Given the description of an element on the screen output the (x, y) to click on. 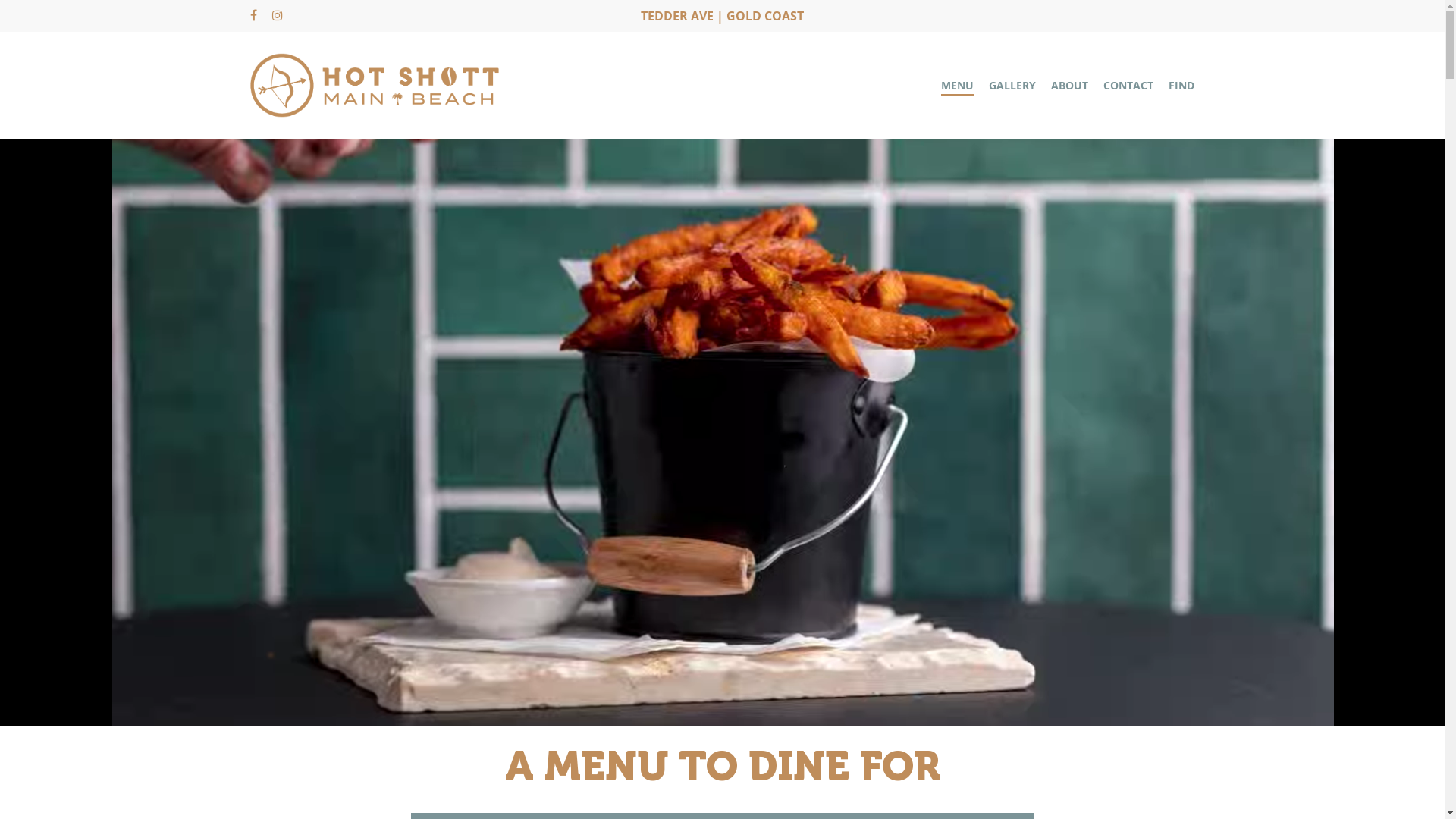
ABOUT Element type: text (1069, 84)
FIND Element type: text (1181, 84)
GALLERY Element type: text (1011, 84)
CONTACT Element type: text (1128, 84)
MENU Element type: text (957, 84)
